Given the description of an element on the screen output the (x, y) to click on. 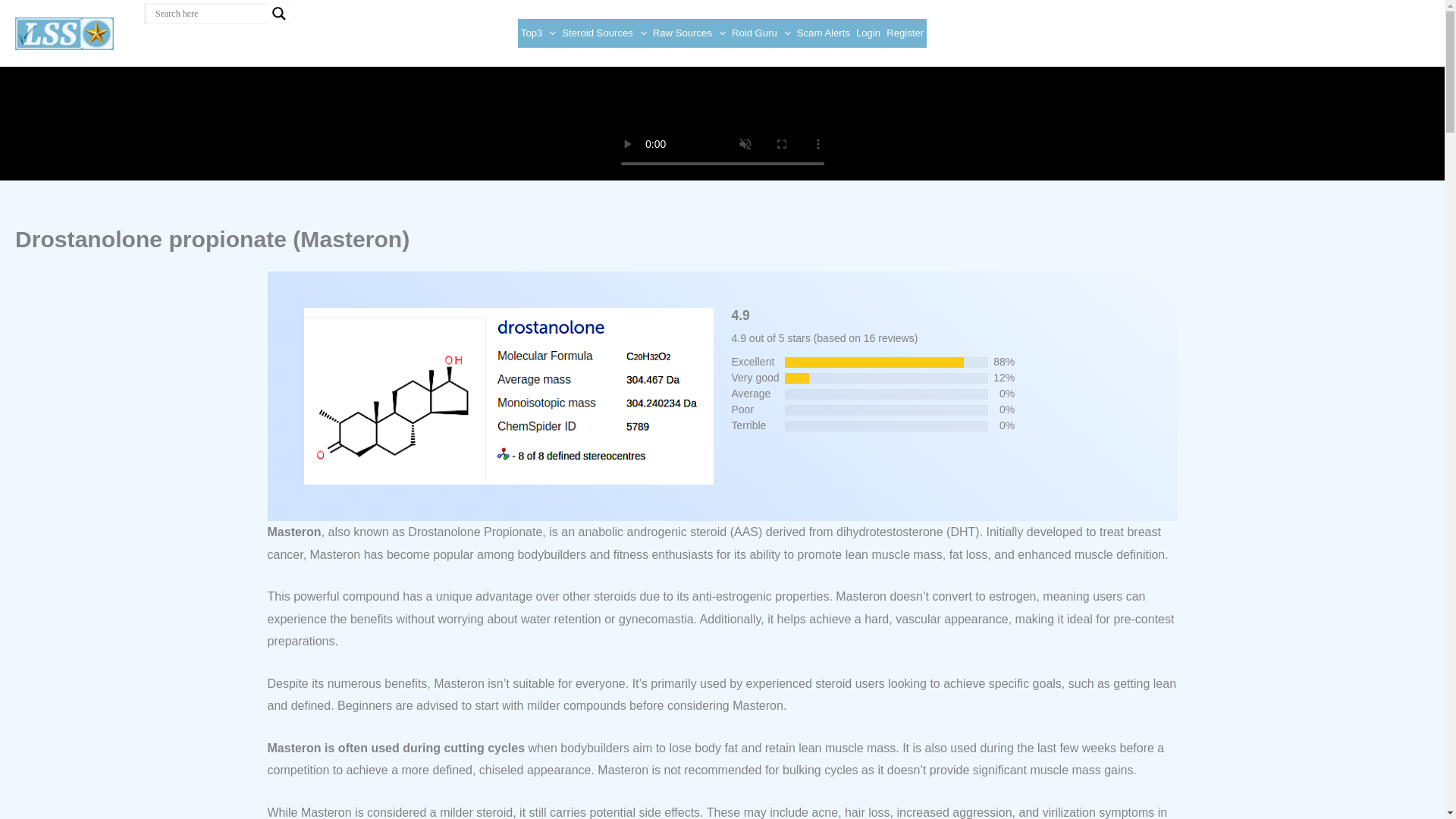
Login (868, 32)
Scam Alerts (823, 32)
Raw Sources (689, 32)
Roid Guru (761, 32)
Register (904, 32)
Top3 (538, 32)
Steroid Sources (604, 32)
